Given the description of an element on the screen output the (x, y) to click on. 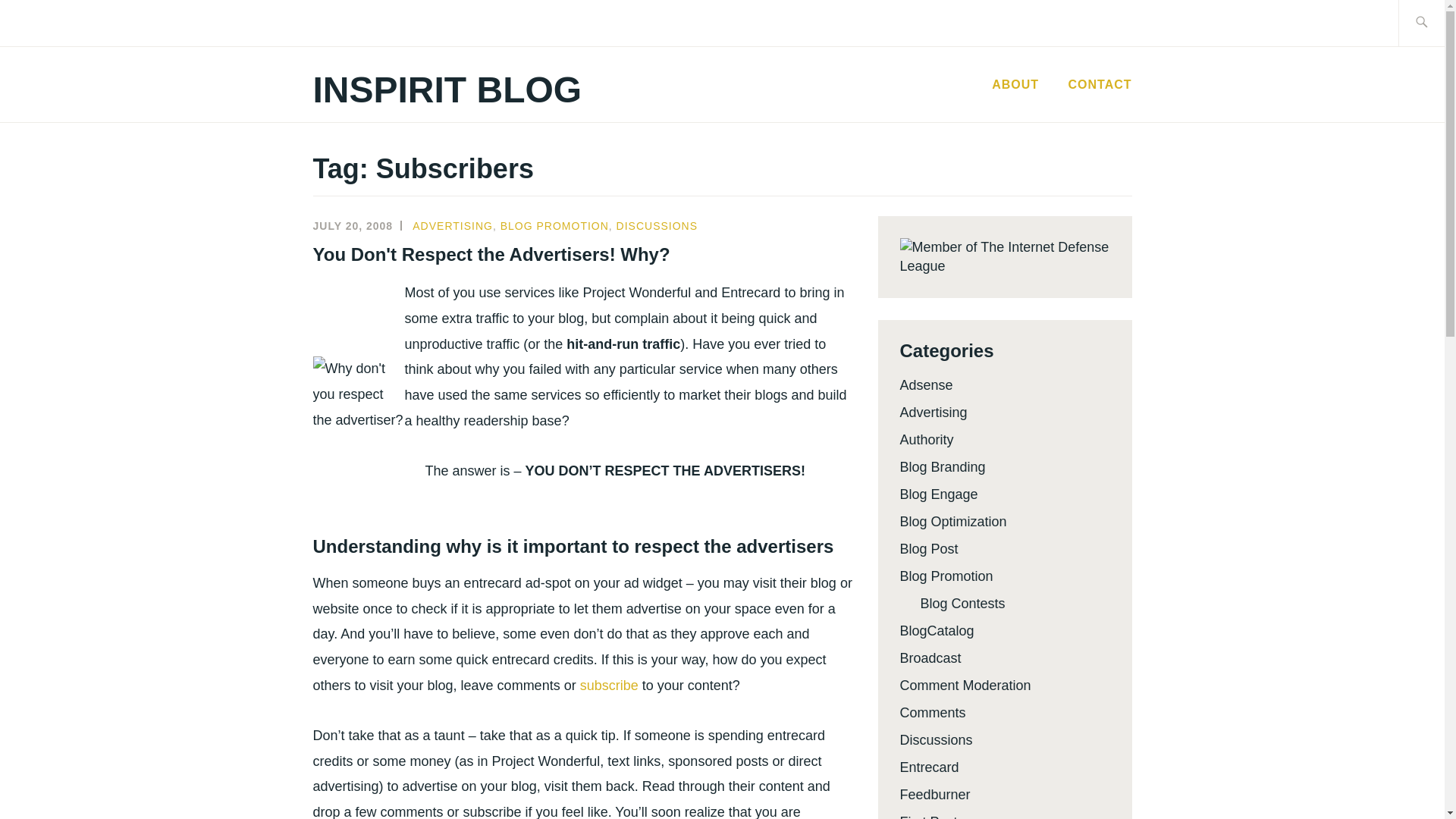
Discussions (935, 739)
Blog Promotion (945, 575)
ADVERTISING (452, 225)
Search (47, 22)
Subscribe to Inspirit Blog (609, 685)
Broadcast (929, 657)
Blog Branding (942, 467)
subscribe (609, 685)
Comment Moderation (964, 685)
ABOUT (1015, 84)
DISCUSSIONS (656, 225)
Authority (926, 439)
BlogCatalog (936, 630)
CONTACT (1099, 84)
Blog Optimization (952, 521)
